Given the description of an element on the screen output the (x, y) to click on. 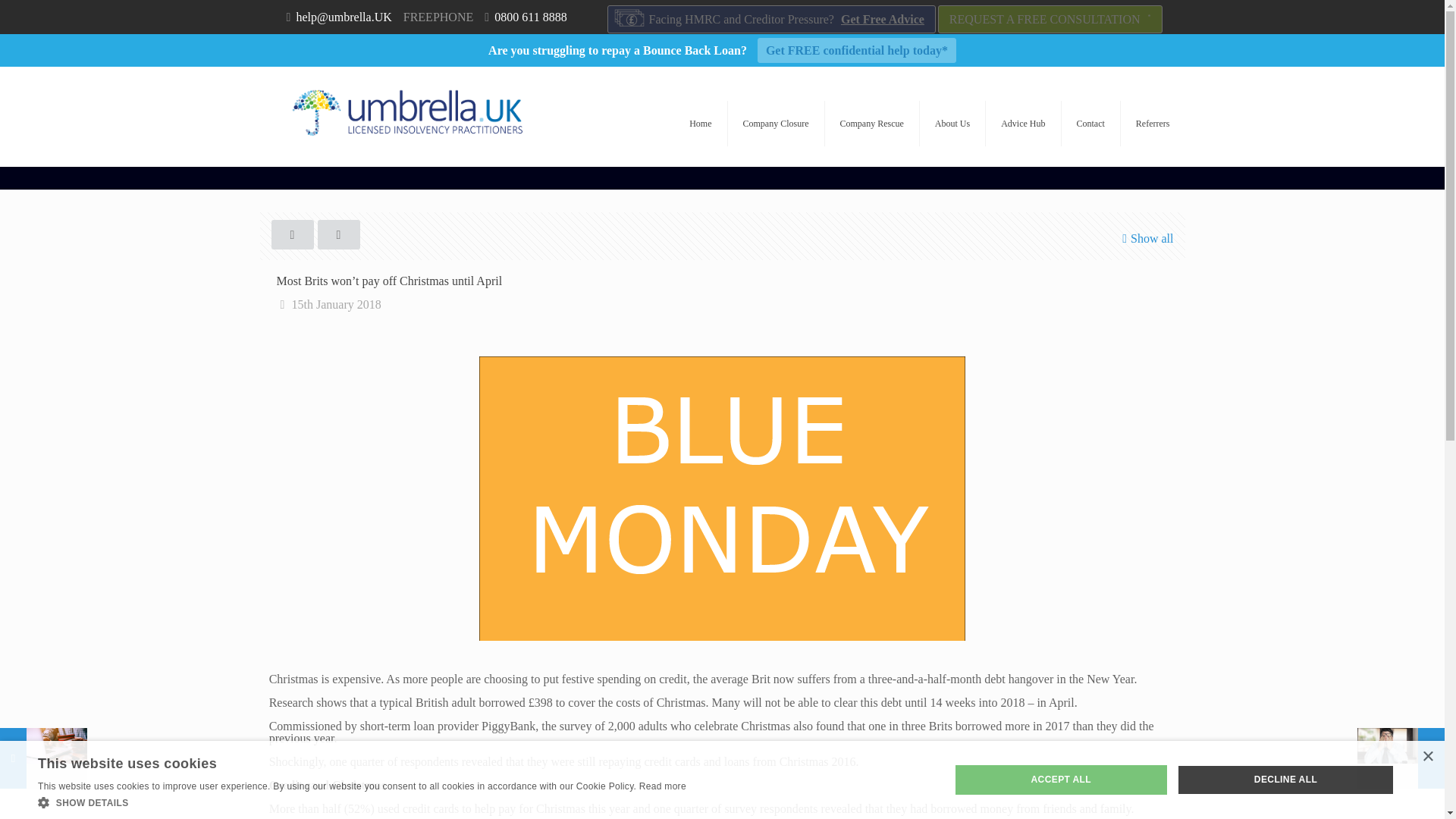
Company Rescue (872, 123)
Company Closure (776, 123)
Referrers (1153, 123)
0800 611 8888 (530, 16)
Advice Hub (1023, 123)
About Us (952, 123)
Show all (1145, 238)
Facing HMRC and Creditor Pressure? Get Free Advice (771, 18)
